Given the description of an element on the screen output the (x, y) to click on. 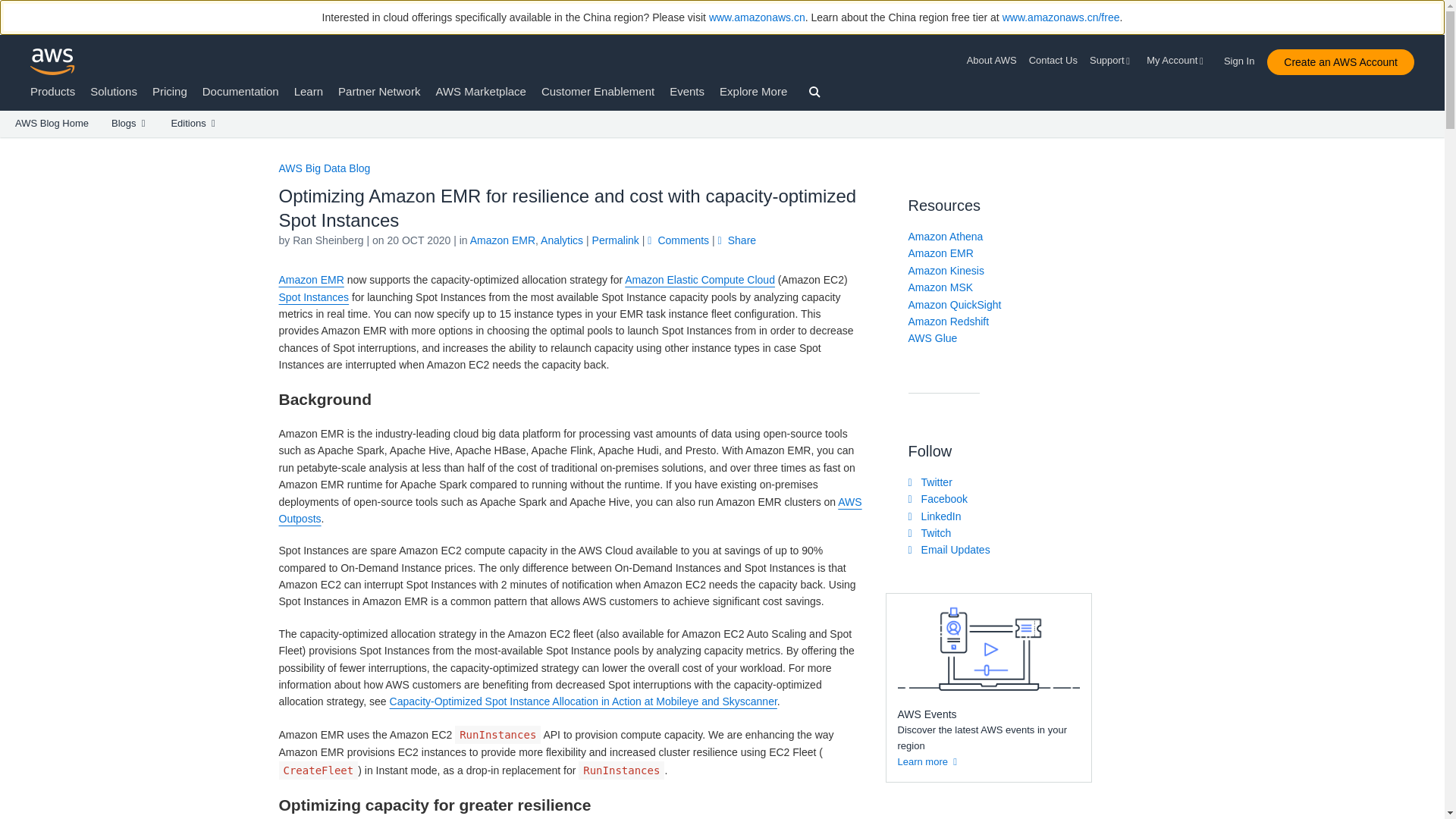
Products (52, 91)
Solutions (113, 91)
Partner Network (378, 91)
Skip to Main Content (7, 143)
My Account  (1177, 60)
Pricing (169, 91)
www.amazonaws.cn (757, 17)
AWS Marketplace (480, 91)
Sign In (1243, 58)
View all posts in Analytics (561, 240)
